Given the description of an element on the screen output the (x, y) to click on. 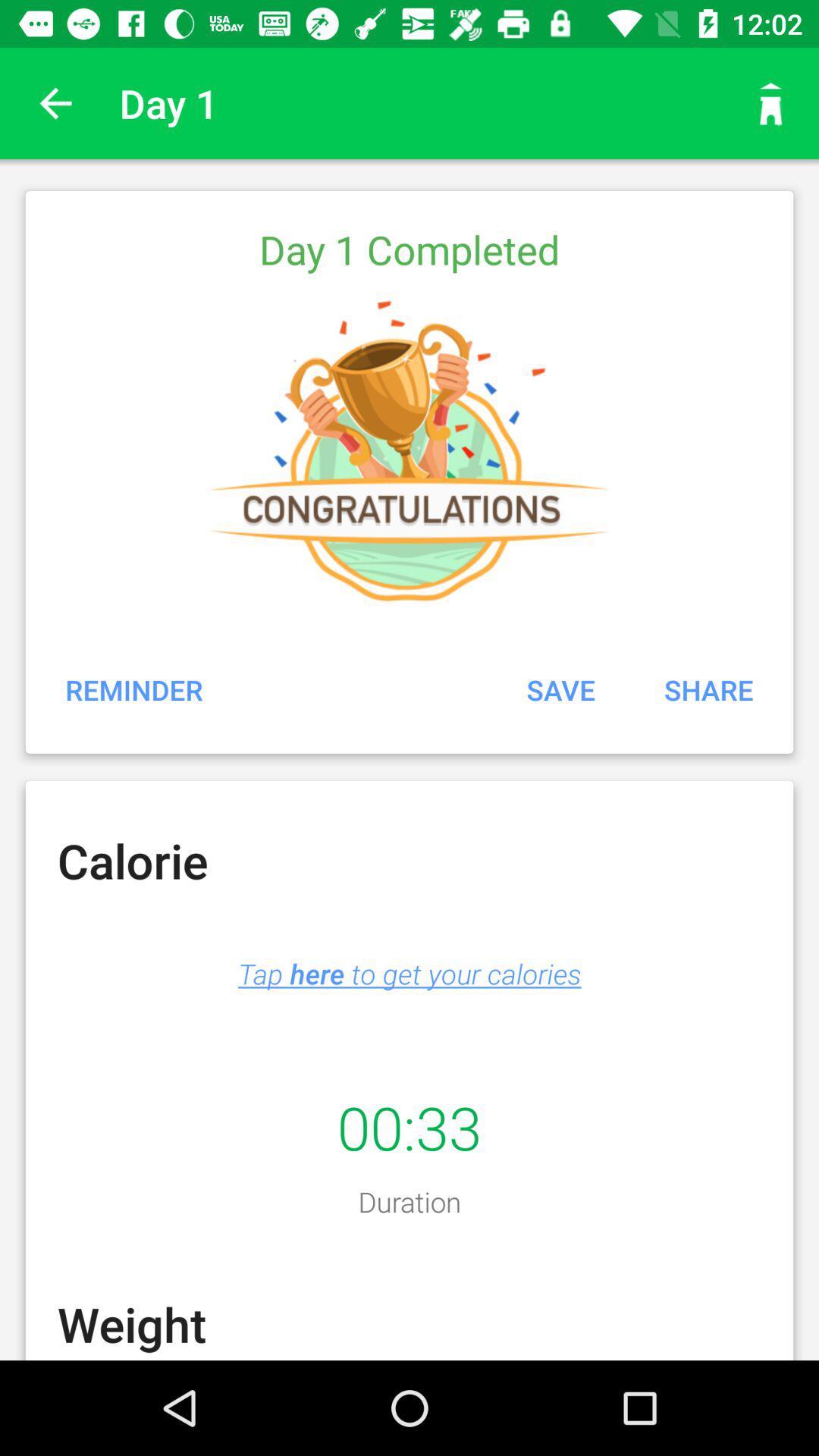
turn on icon next to the reminder item (560, 689)
